Given the description of an element on the screen output the (x, y) to click on. 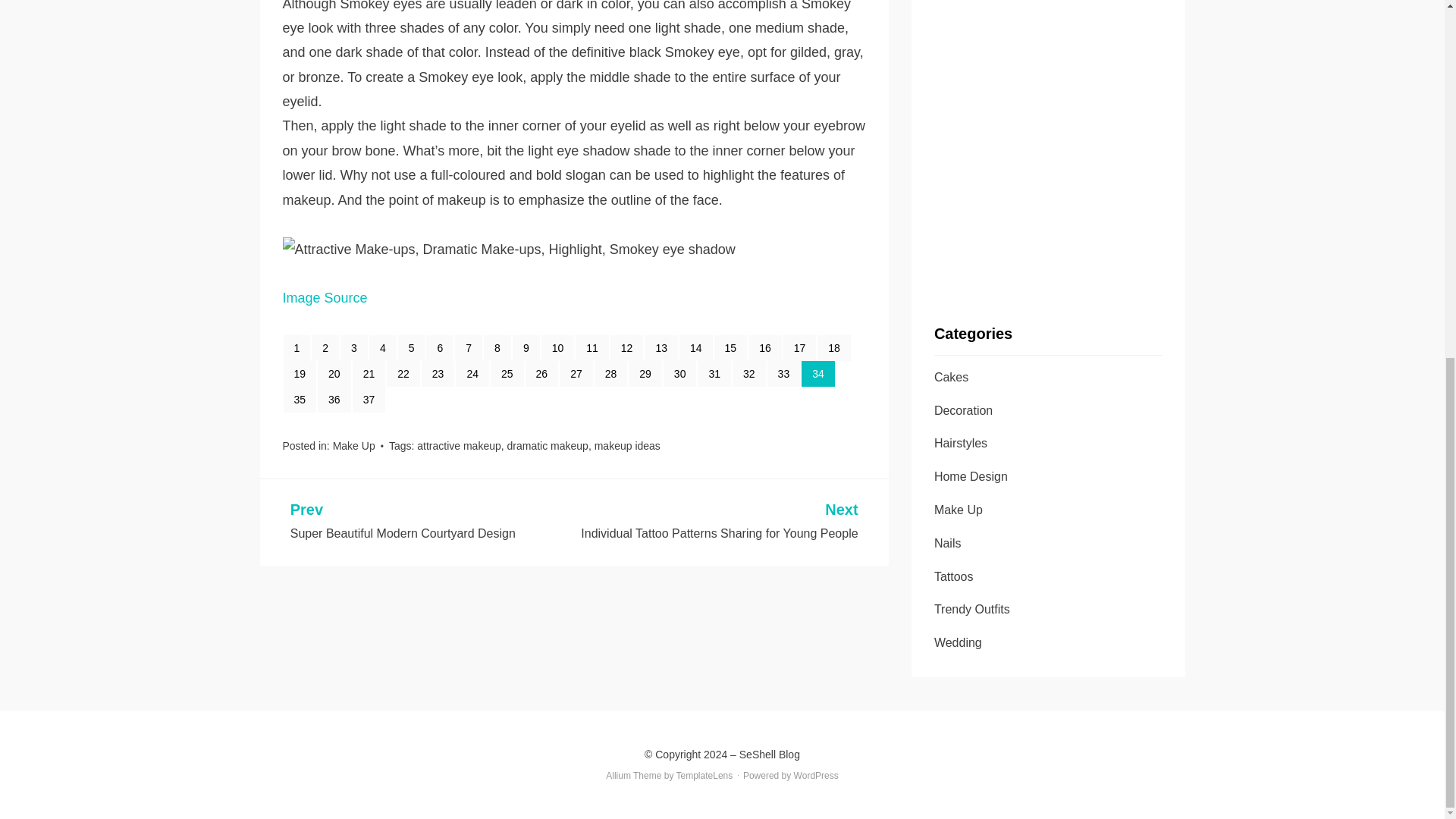
25 (507, 373)
1 (297, 347)
Image Source (324, 297)
15 (731, 347)
23 (438, 373)
4 (382, 347)
3 (354, 347)
21 (368, 373)
5 (411, 347)
12 (626, 347)
16 (764, 347)
14 (696, 347)
19 (300, 373)
11 (591, 347)
17 (799, 347)
